Given the description of an element on the screen output the (x, y) to click on. 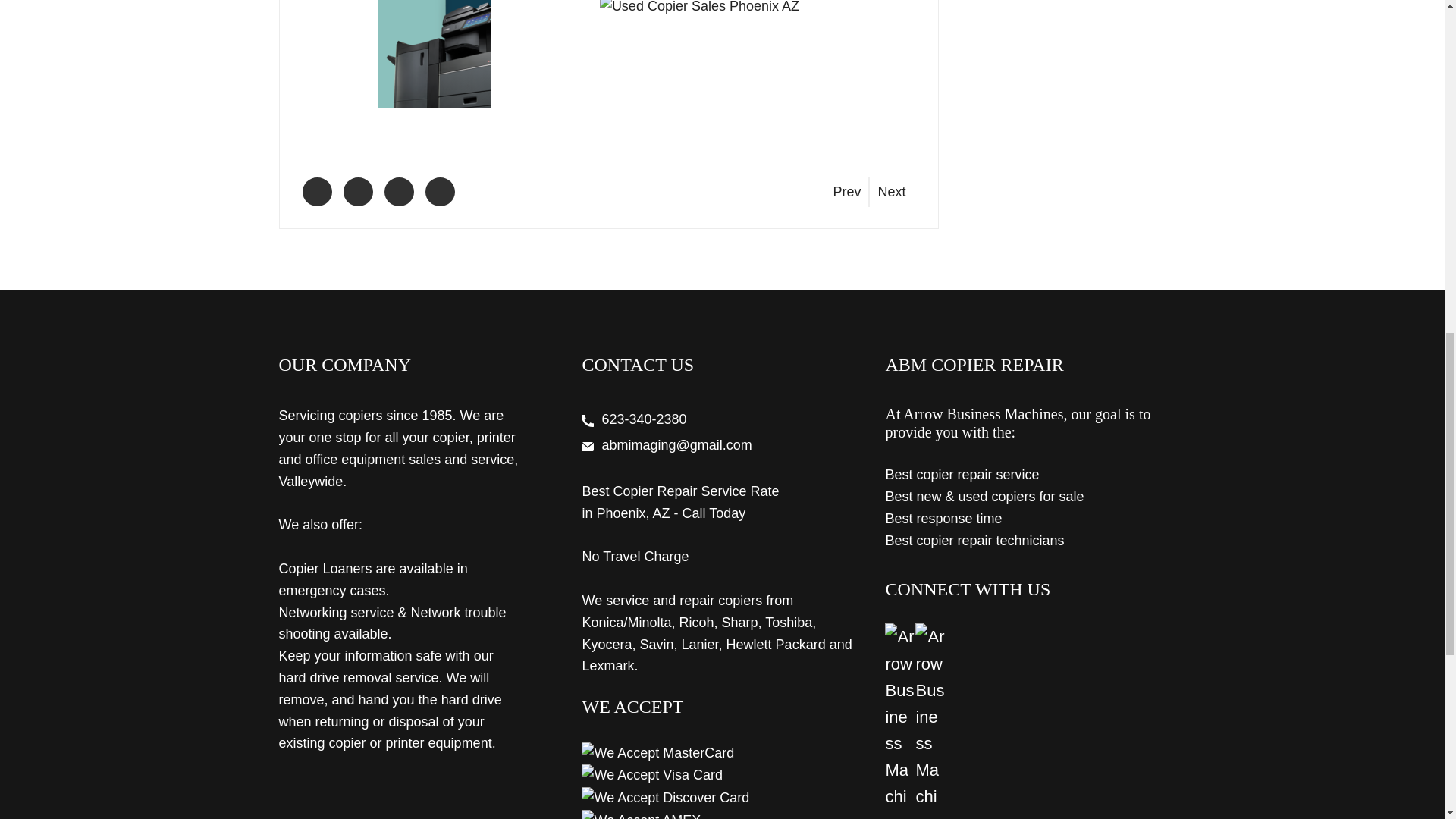
Next (895, 191)
623-340-2380 (644, 418)
Prev (842, 191)
